Given the description of an element on the screen output the (x, y) to click on. 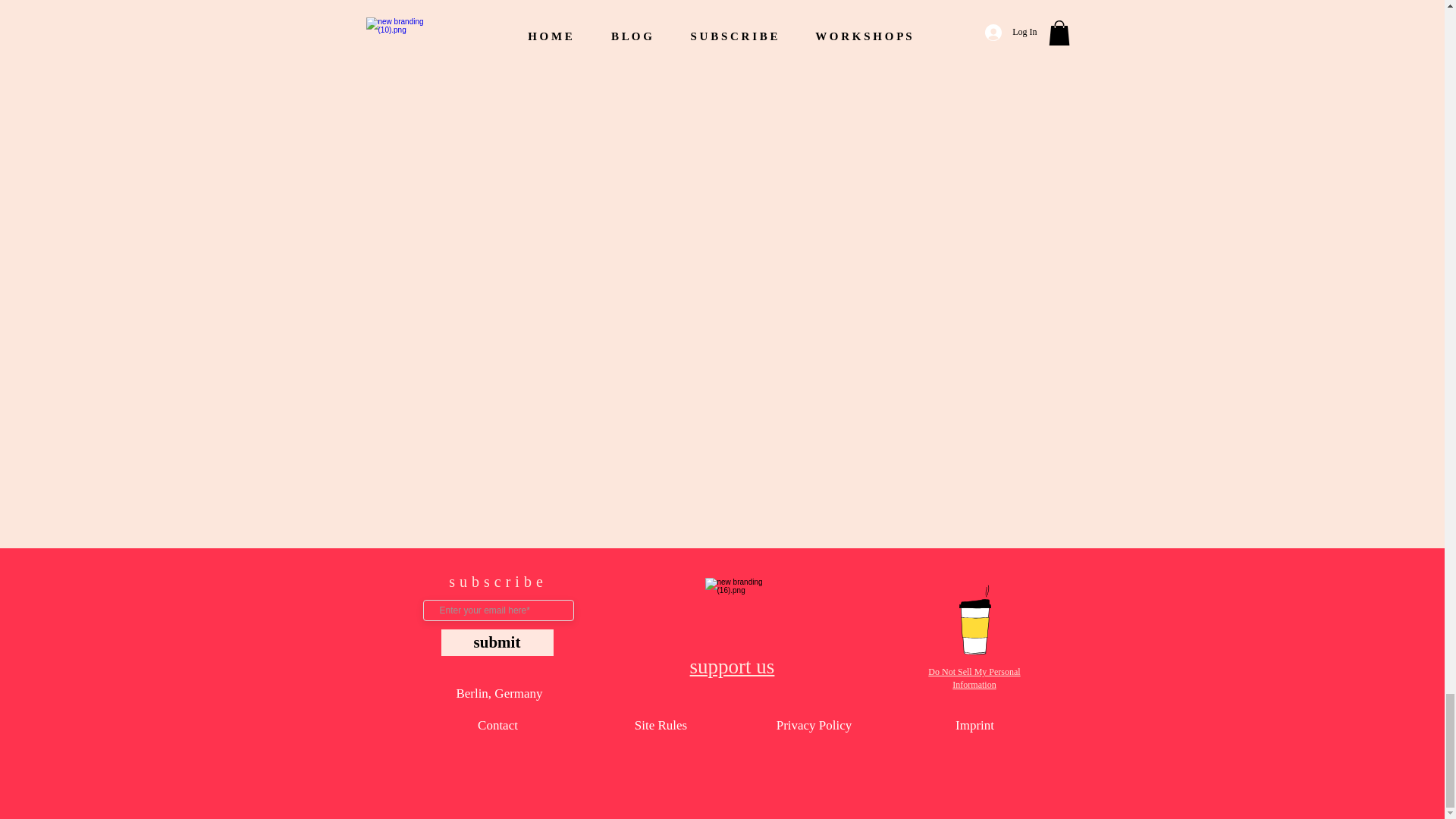
submit (497, 642)
